Given the description of an element on the screen output the (x, y) to click on. 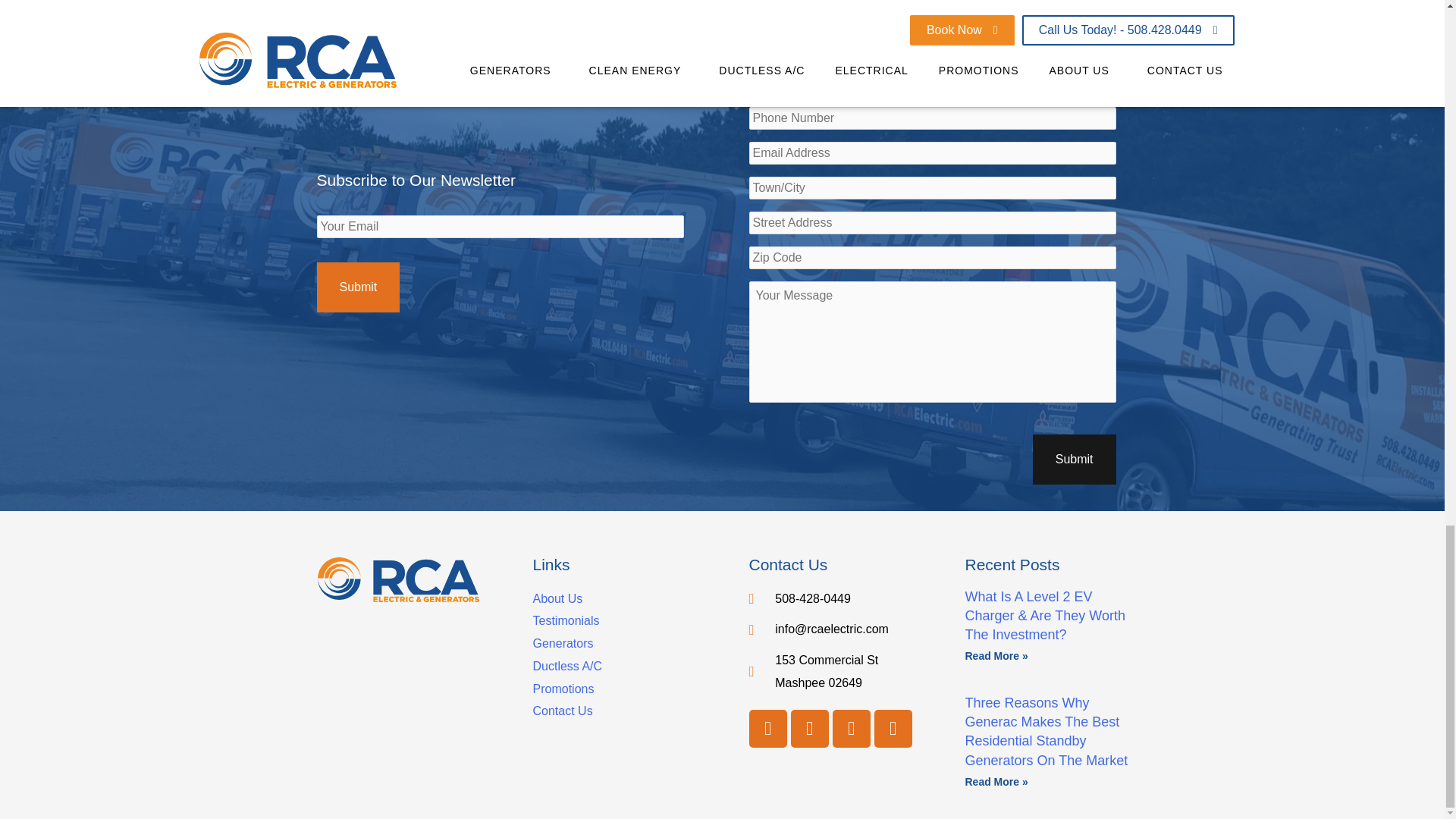
Submit (1074, 459)
Submit (358, 287)
